Given the description of an element on the screen output the (x, y) to click on. 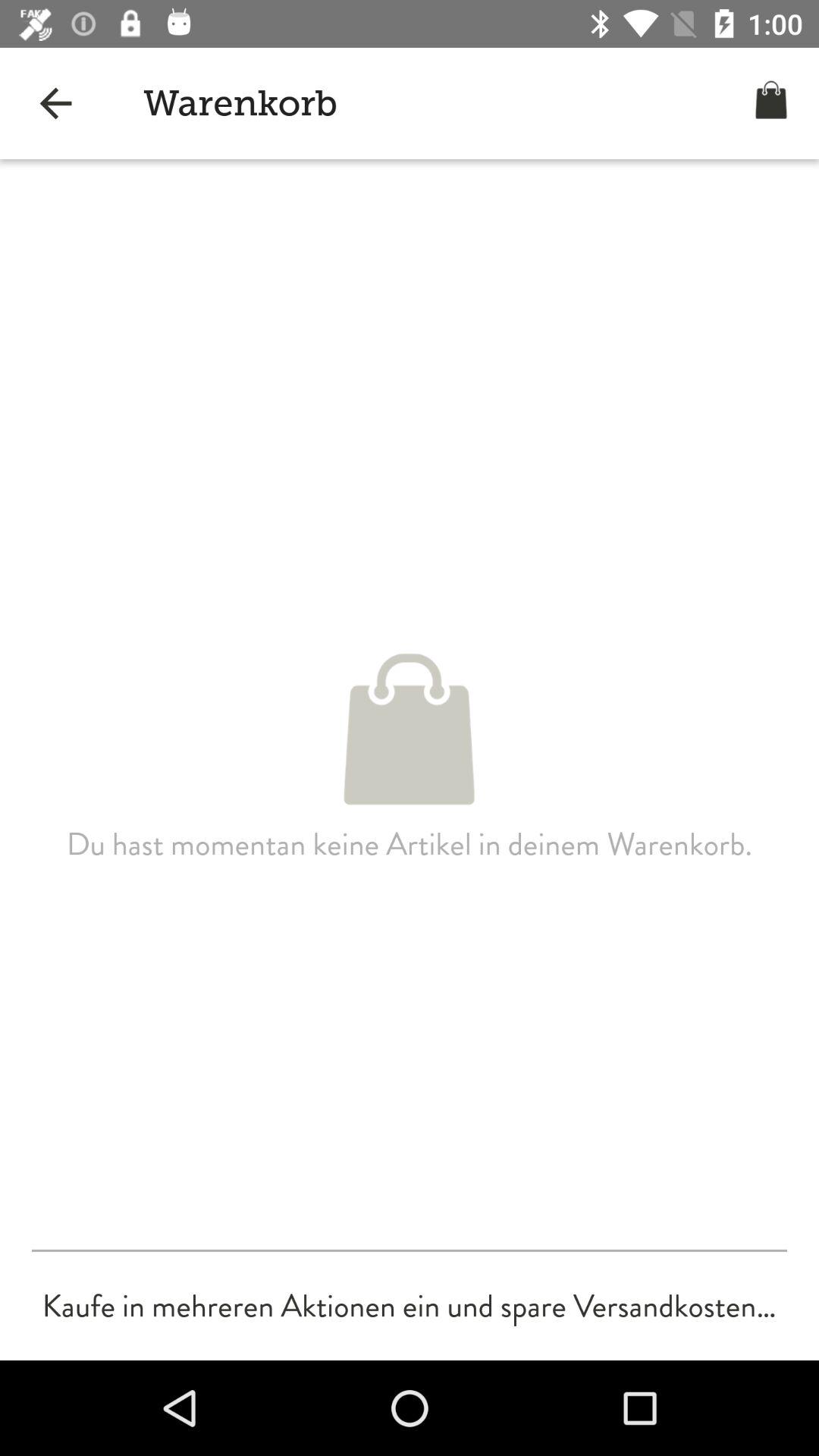
turn on the icon above du hast momentan (55, 103)
